Given the description of an element on the screen output the (x, y) to click on. 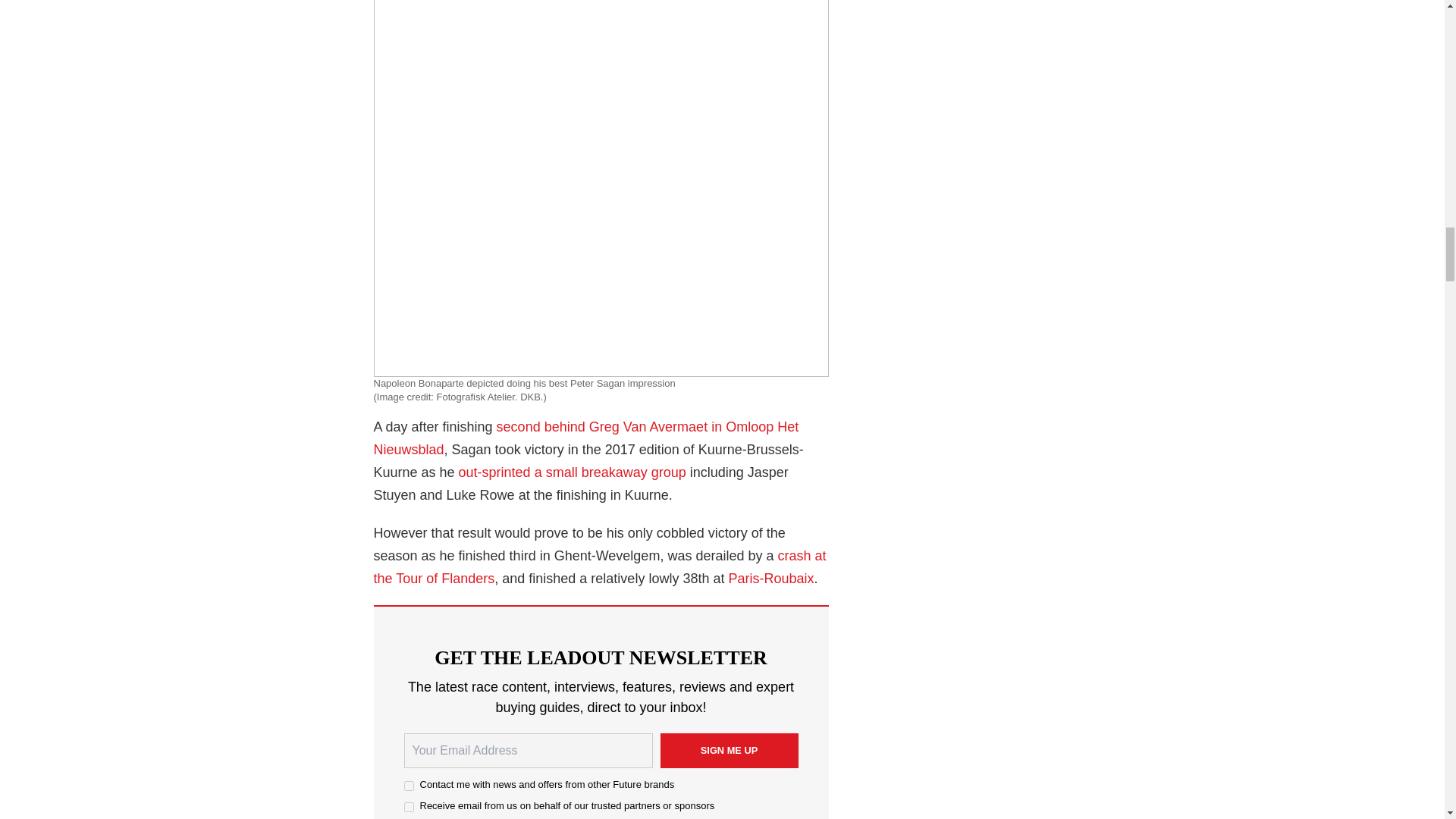
on (408, 786)
on (408, 807)
Sign me up (728, 750)
